Given the description of an element on the screen output the (x, y) to click on. 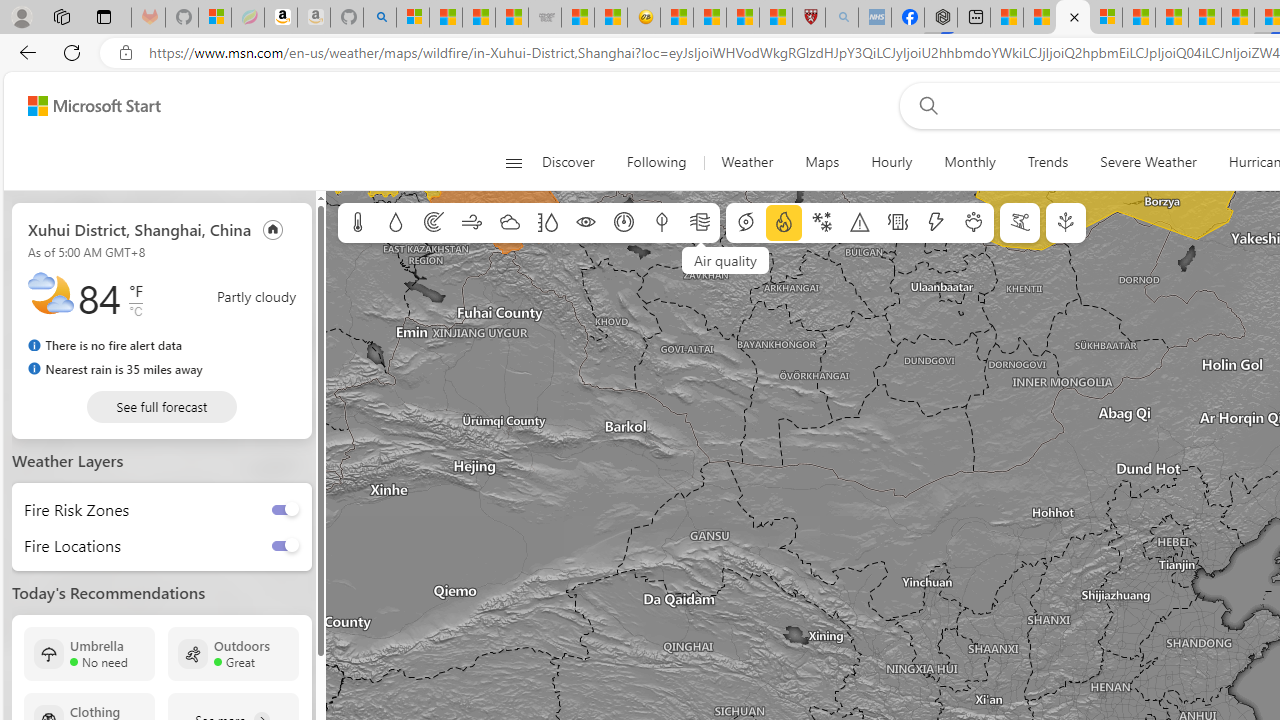
Trends (1047, 162)
Humidity (547, 223)
Xuhui District, Shanghai, China (140, 228)
Severe Weather (1147, 162)
Earthquake (898, 223)
Dew point (661, 223)
Fire Risk Zones (70, 508)
